Given the description of an element on the screen output the (x, y) to click on. 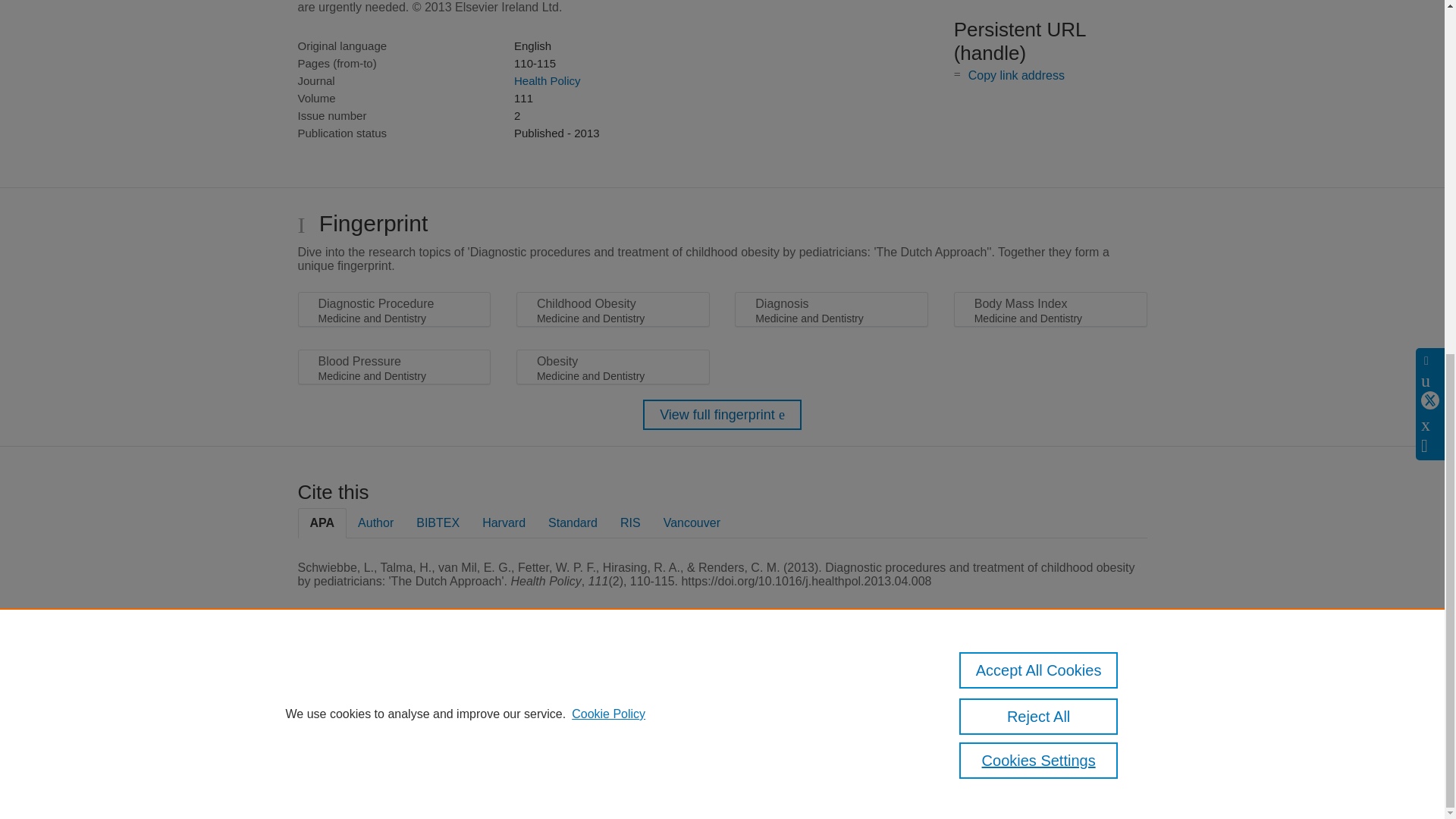
Copy link address (1016, 74)
Health Policy (546, 80)
Scopus (394, 686)
View full fingerprint (722, 414)
Pure (362, 686)
